Given the description of an element on the screen output the (x, y) to click on. 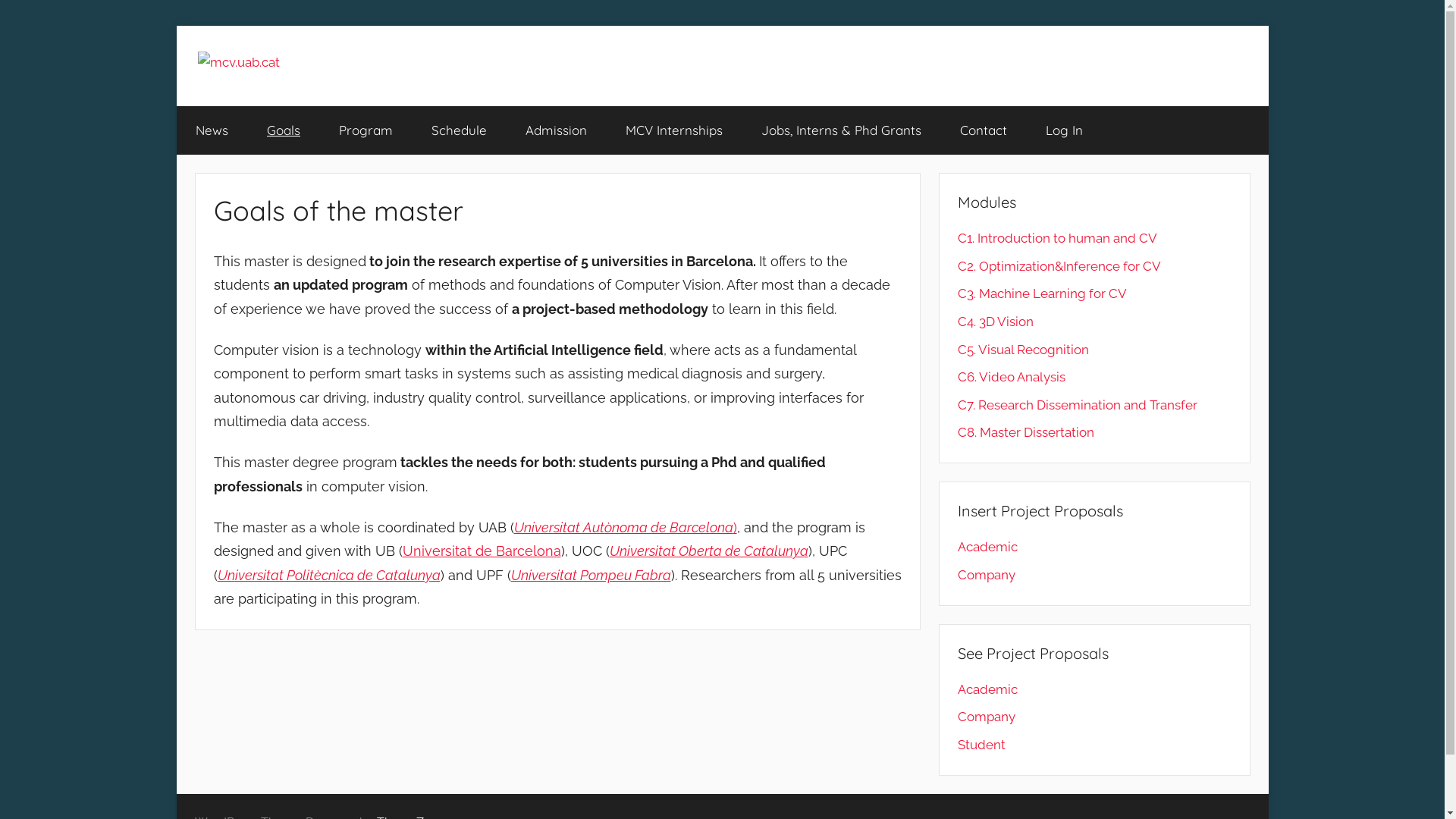
Academic Element type: text (987, 688)
C4. 3D Vision Element type: text (995, 321)
C7. Research Dissemination and Transfer Element type: text (1077, 404)
Universitat Oberta de Catalunya Element type: text (708, 550)
Universitat de Barcelona Element type: text (480, 550)
C8. Master Dissertation Element type: text (1025, 431)
Jobs, Interns & Phd Grants Element type: text (840, 130)
Universitat Pompeu Fabra Element type: text (591, 575)
C6. Video Analysis Element type: text (1011, 376)
C1. Introduction to human and CV Element type: text (1057, 237)
Company Element type: text (986, 574)
Log In Element type: text (1064, 130)
C5. Visual Recognition Element type: text (1022, 349)
Admission Element type: text (556, 130)
News Element type: text (211, 130)
Academic Element type: text (987, 546)
Contact Element type: text (983, 130)
Student Element type: text (981, 744)
C2. Optimization&Inference for CV Element type: text (1059, 265)
MCV Internships Element type: text (674, 130)
Schedule Element type: text (459, 130)
Company Element type: text (986, 716)
Skip to content Element type: text (175, 25)
Goals Element type: text (283, 130)
Program Element type: text (366, 130)
C3. Machine Learning for CV Element type: text (1041, 293)
